Given the description of an element on the screen output the (x, y) to click on. 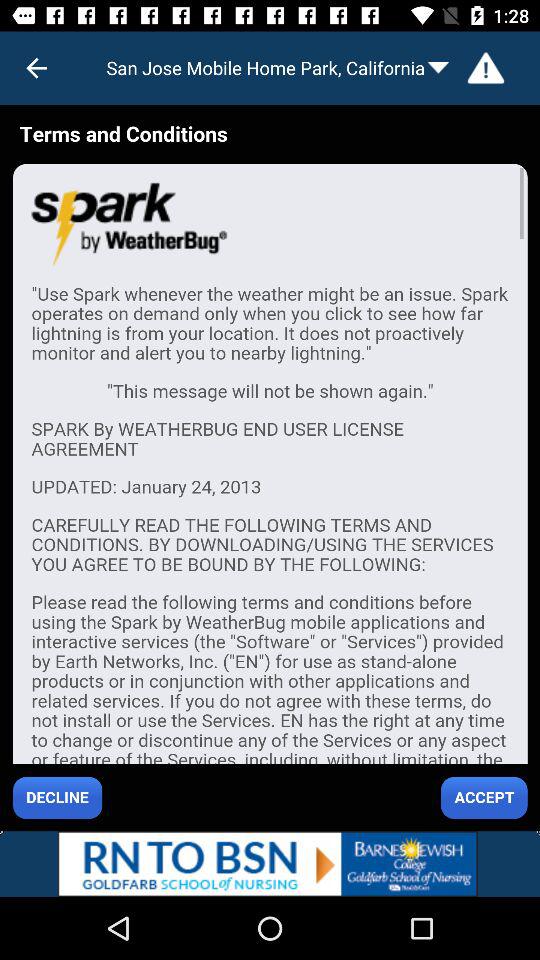
the terms are very good (270, 468)
